Given the description of an element on the screen output the (x, y) to click on. 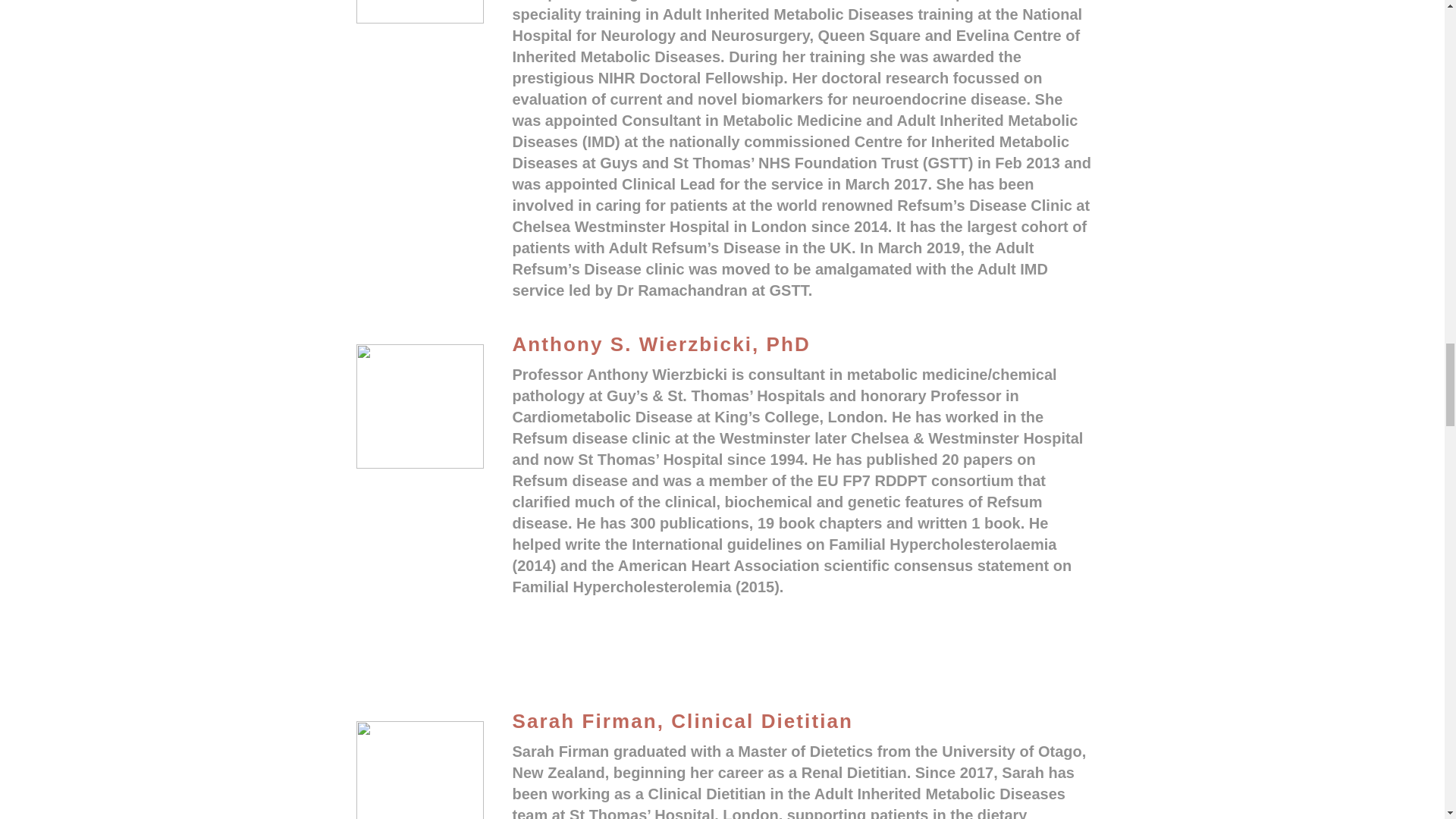
Sarah Firman.JPG (419, 770)
Radha Ramchandran.jpg (419, 11)
TW02-18.jpg (419, 405)
